Given the description of an element on the screen output the (x, y) to click on. 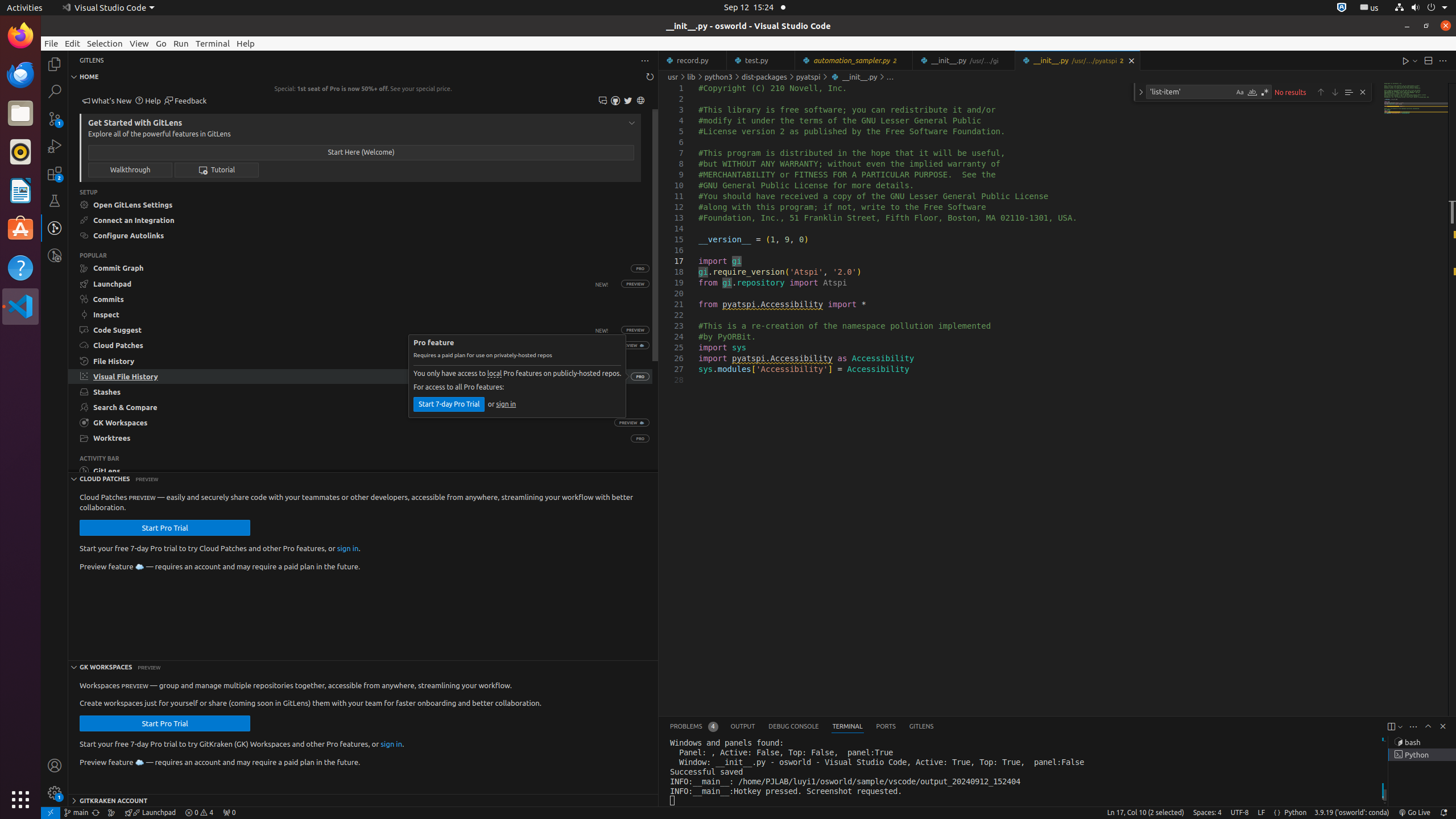
Source Control (Ctrl+Shift+G G) - 1 pending changes Source Control (Ctrl+Shift+G G) - 1 pending changes Element type: page-tab (54, 118)
Connect an Integration on GitKraken.dev Element type: link (359, 219)
